Given the description of an element on the screen output the (x, y) to click on. 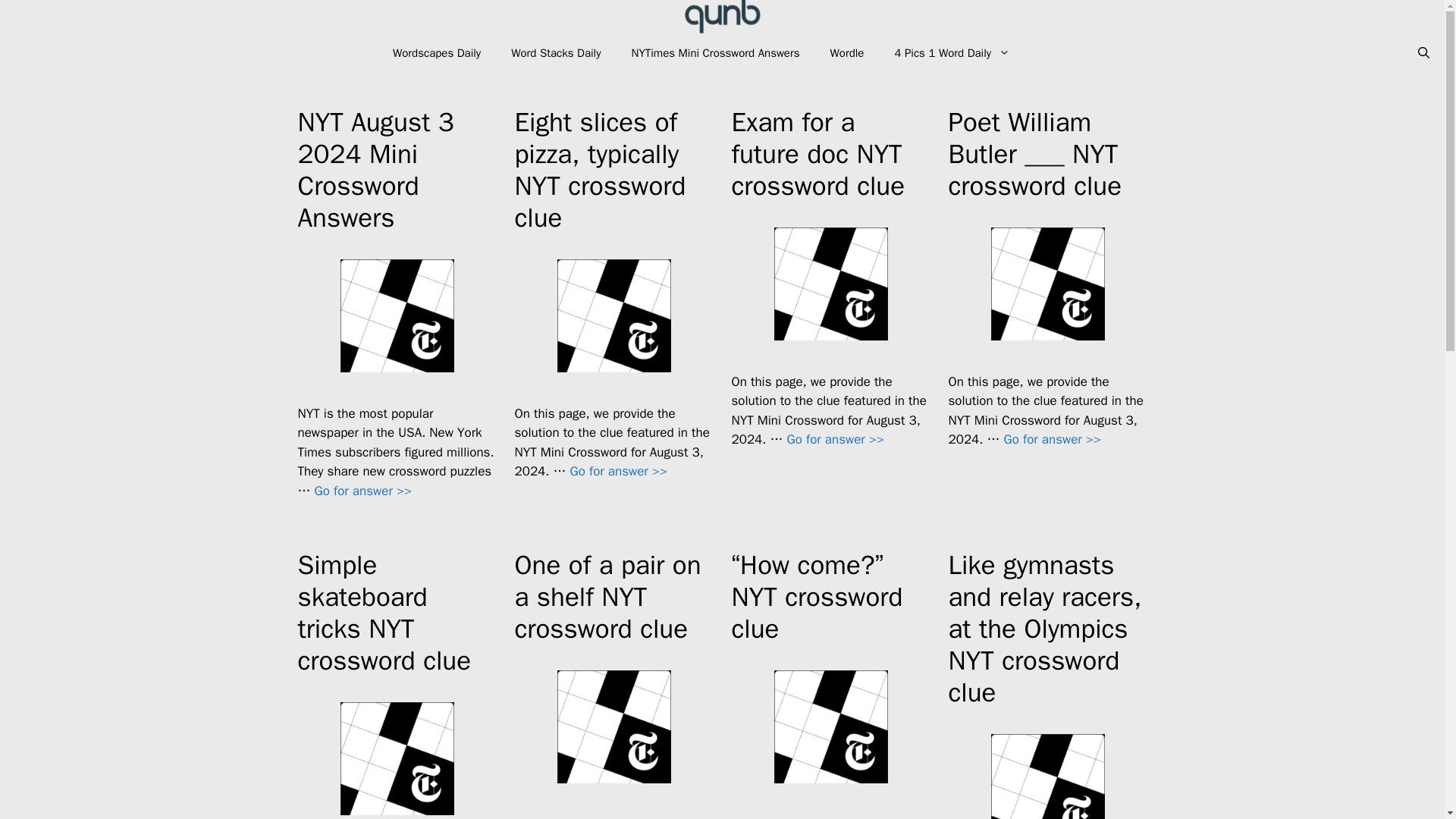
4 Pics 1 Word Daily (952, 53)
Eight slices of pizza, typically NYT crossword clue (599, 169)
Word Stacks Daily (555, 53)
NYT August 3 2024 Mini Crossword Answers (374, 169)
Wordscapes Daily (436, 53)
Exam for a future doc NYT crossword clue (836, 439)
NYTimes Mini Crossword Answers (714, 53)
Exam for a future doc NYT crossword clue (817, 153)
Wordle (847, 53)
One of a pair on a shelf NYT crossword clue (606, 596)
Simple skateboard tricks NYT crossword clue (383, 612)
Eight slices of pizza, typically NYT crossword clue (619, 471)
NYT August 3 2024 Mini Crossword Answers (363, 490)
